Given the description of an element on the screen output the (x, y) to click on. 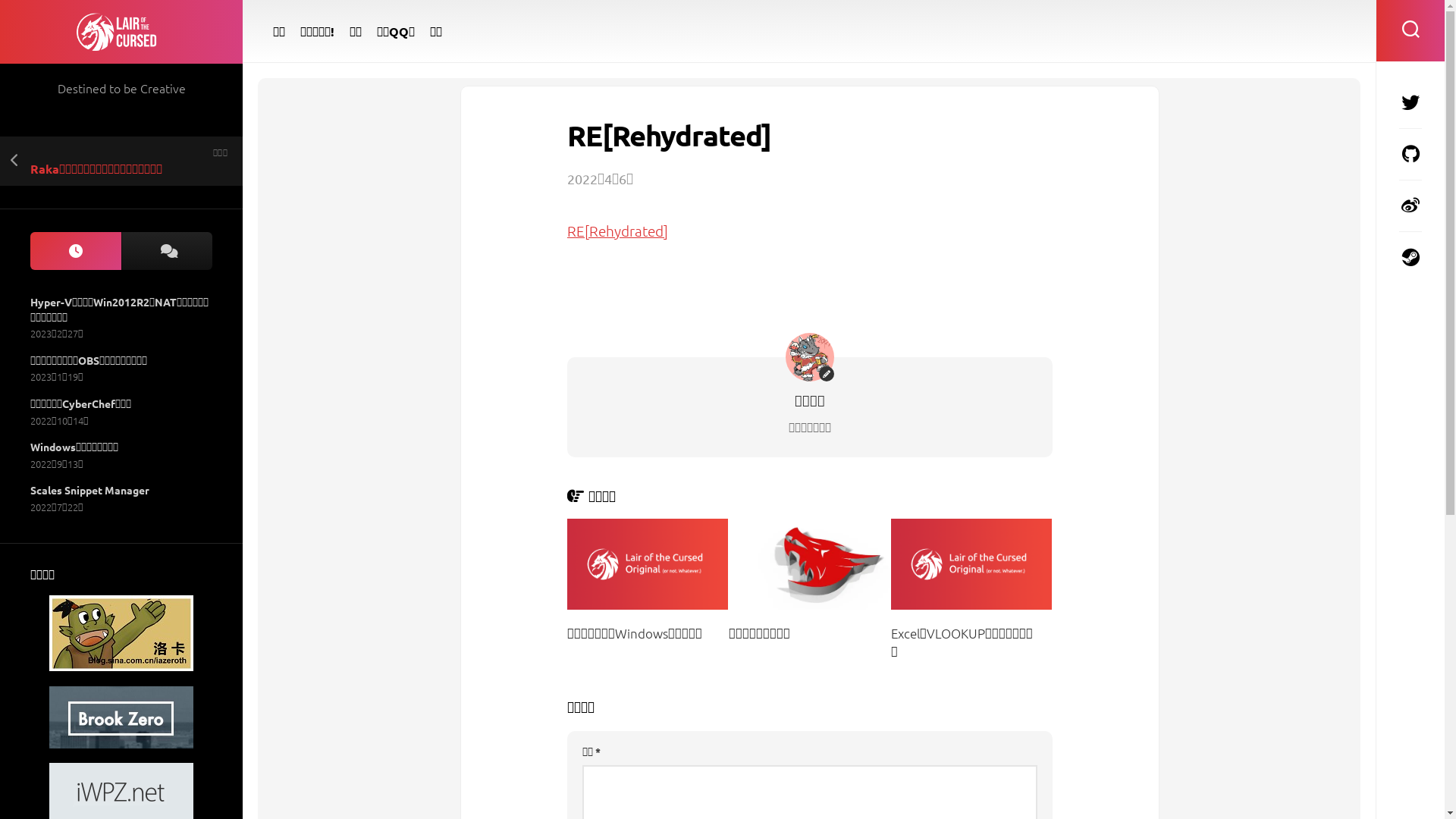
Twitter Element type: hover (1410, 102)
Github Element type: hover (1410, 153)
Recent Comments Element type: hover (166, 251)
Recent Posts Element type: hover (75, 251)
Steam Element type: hover (1410, 256)
RE[Rehydrated] Element type: text (617, 230)
Scales Snippet Manager Element type: text (89, 489)
